Given the description of an element on the screen output the (x, y) to click on. 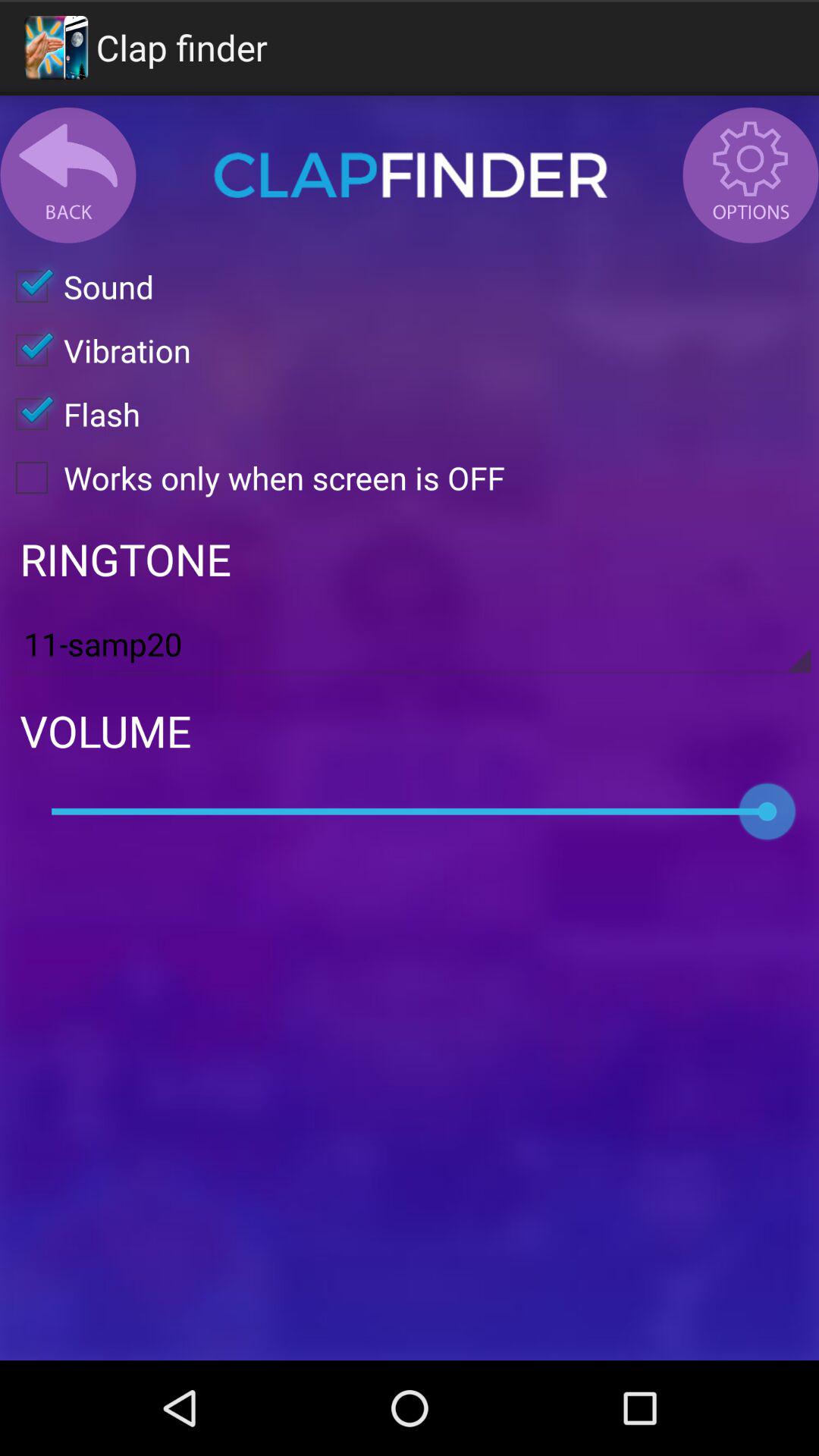
turn on vibration checkbox (95, 350)
